Given the description of an element on the screen output the (x, y) to click on. 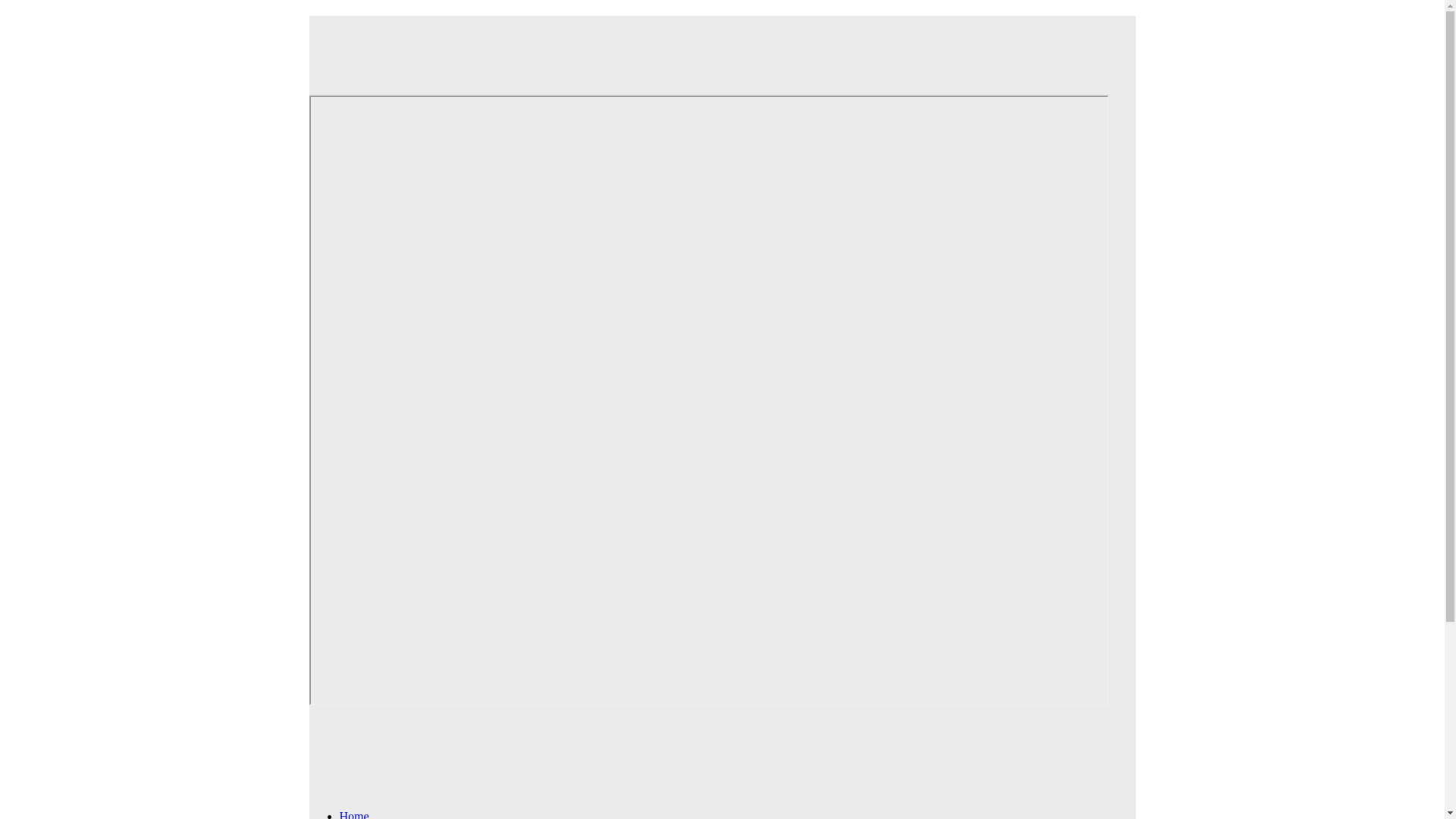
Web Hosting from Just Host Element type: text (707, 44)
